Given the description of an element on the screen output the (x, y) to click on. 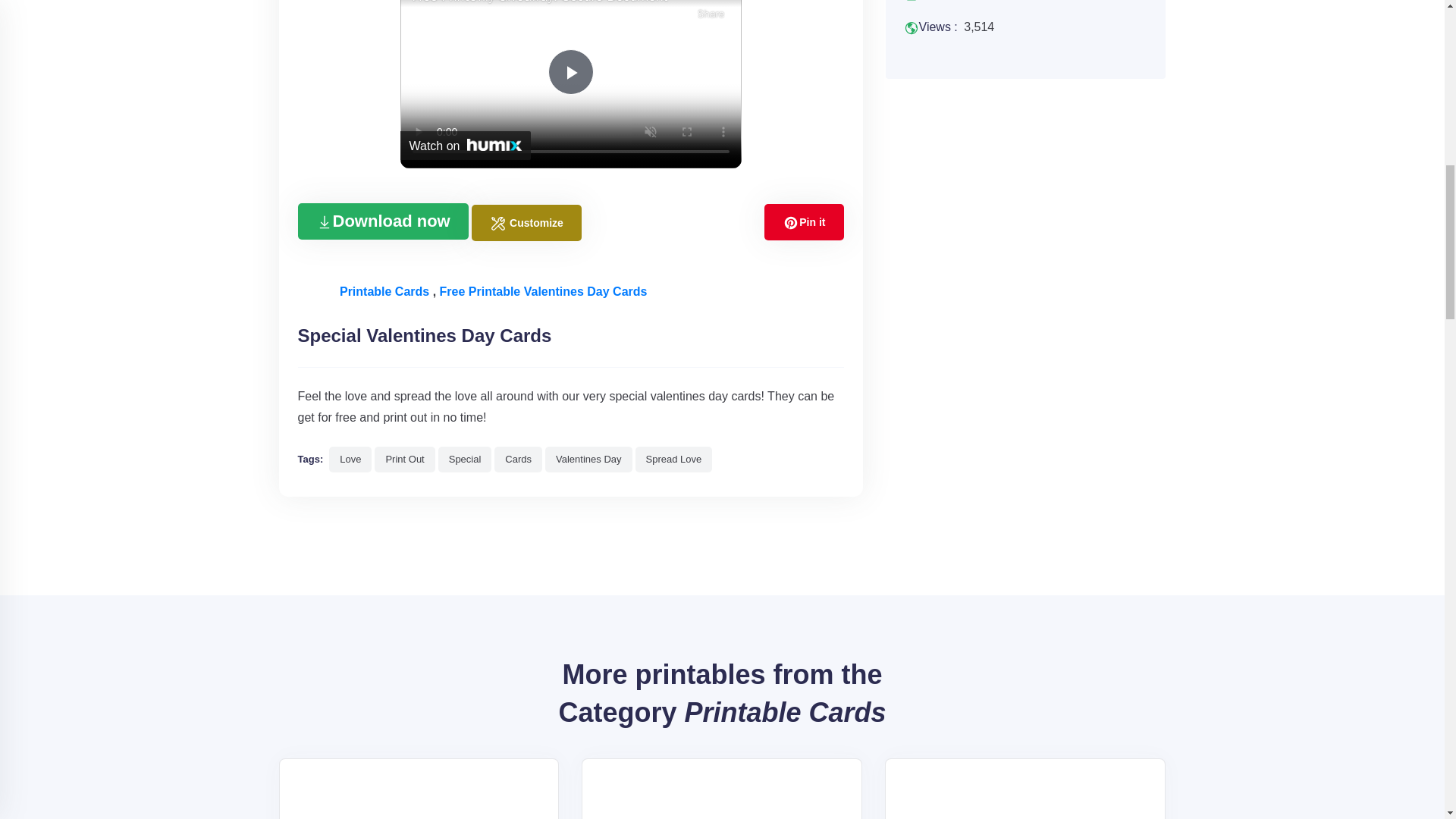
share (711, 12)
Pin it on Pinterest (803, 221)
Play Video (569, 72)
